Given the description of an element on the screen output the (x, y) to click on. 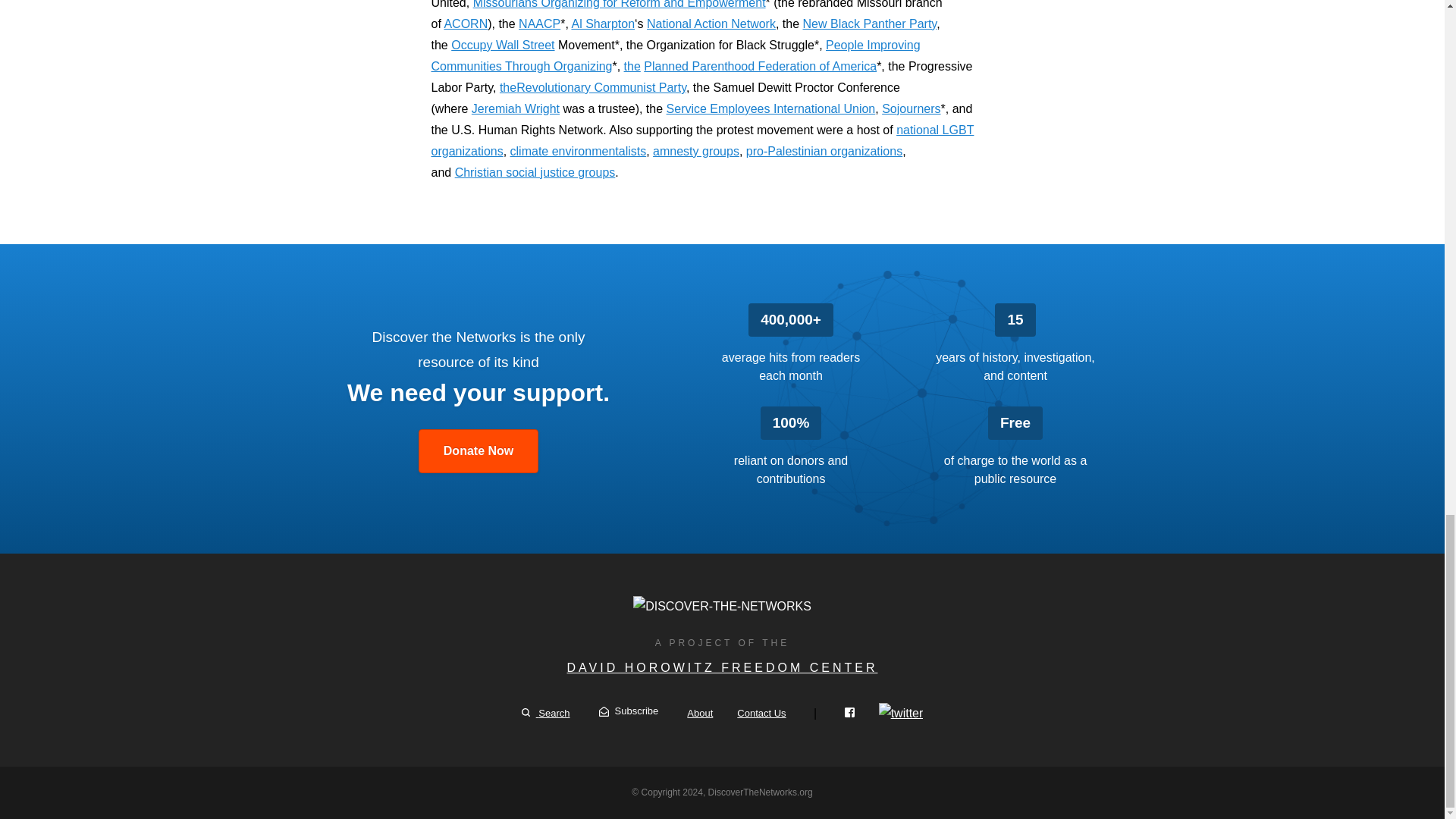
Occupy Wall Street (502, 44)
Service Employees International Union (771, 108)
National Action Network (711, 23)
pro-Palestinian organizations (823, 151)
New Black Panther Party (869, 23)
amnesty groups (695, 151)
climate environmentalists (578, 151)
Planned Parenthood Federation of America (759, 65)
Revolutionary Communist Party (600, 87)
People Improving Communities Through Organizing (675, 55)
